Given the description of an element on the screen output the (x, y) to click on. 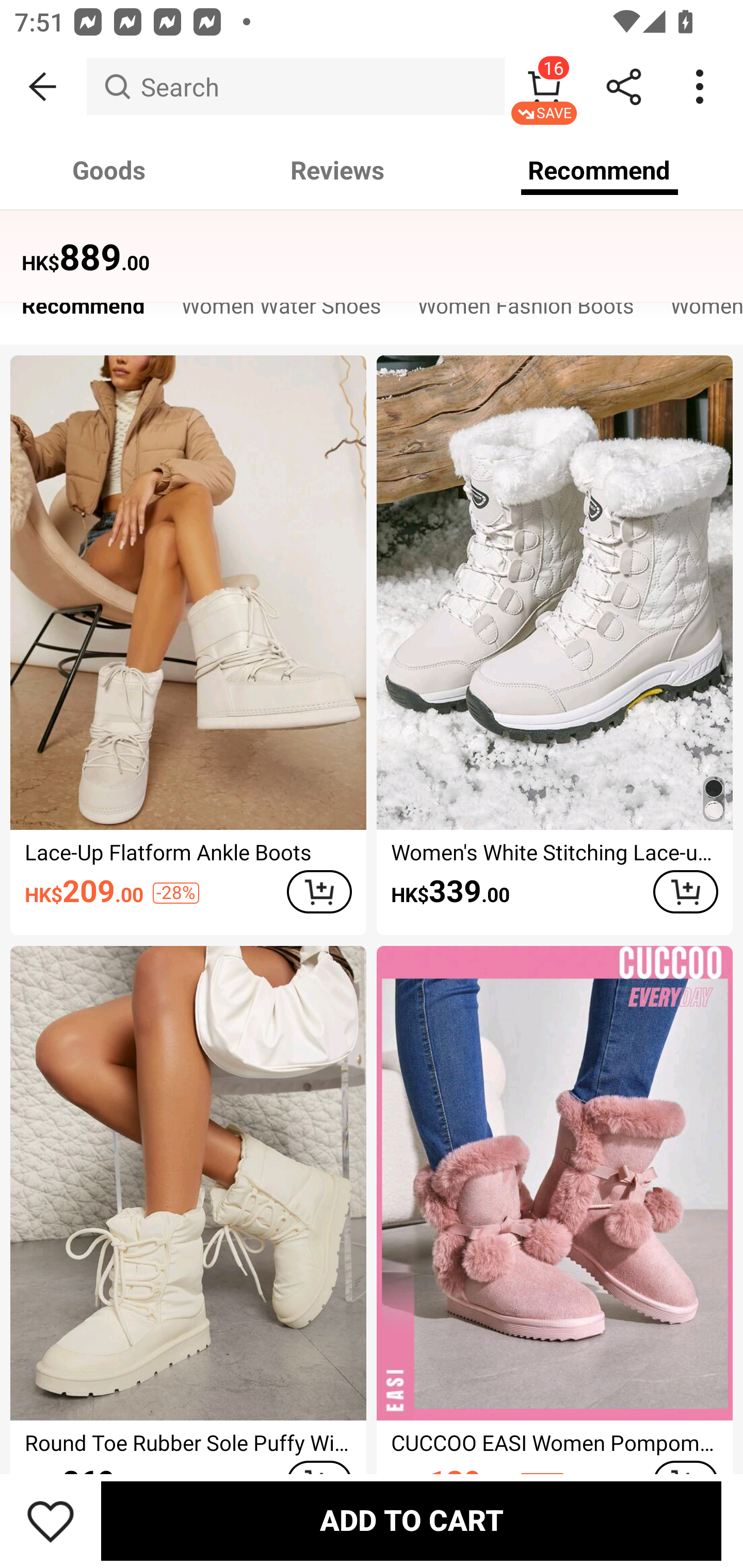
BACK (43, 86)
16 SAVE (543, 87)
Search (295, 87)
Goods (109, 170)
Reviews (337, 170)
Recommend (599, 170)
You May Also Like (371, 244)
Recommend (82, 310)
Women Water Shoes (280, 310)
Women Fashion Boots (525, 310)
Women Pumps (697, 310)
ADD TO CART (319, 892)
ADD TO CART (685, 892)
ADD TO CART (411, 1520)
Save (50, 1520)
